Given the description of an element on the screen output the (x, y) to click on. 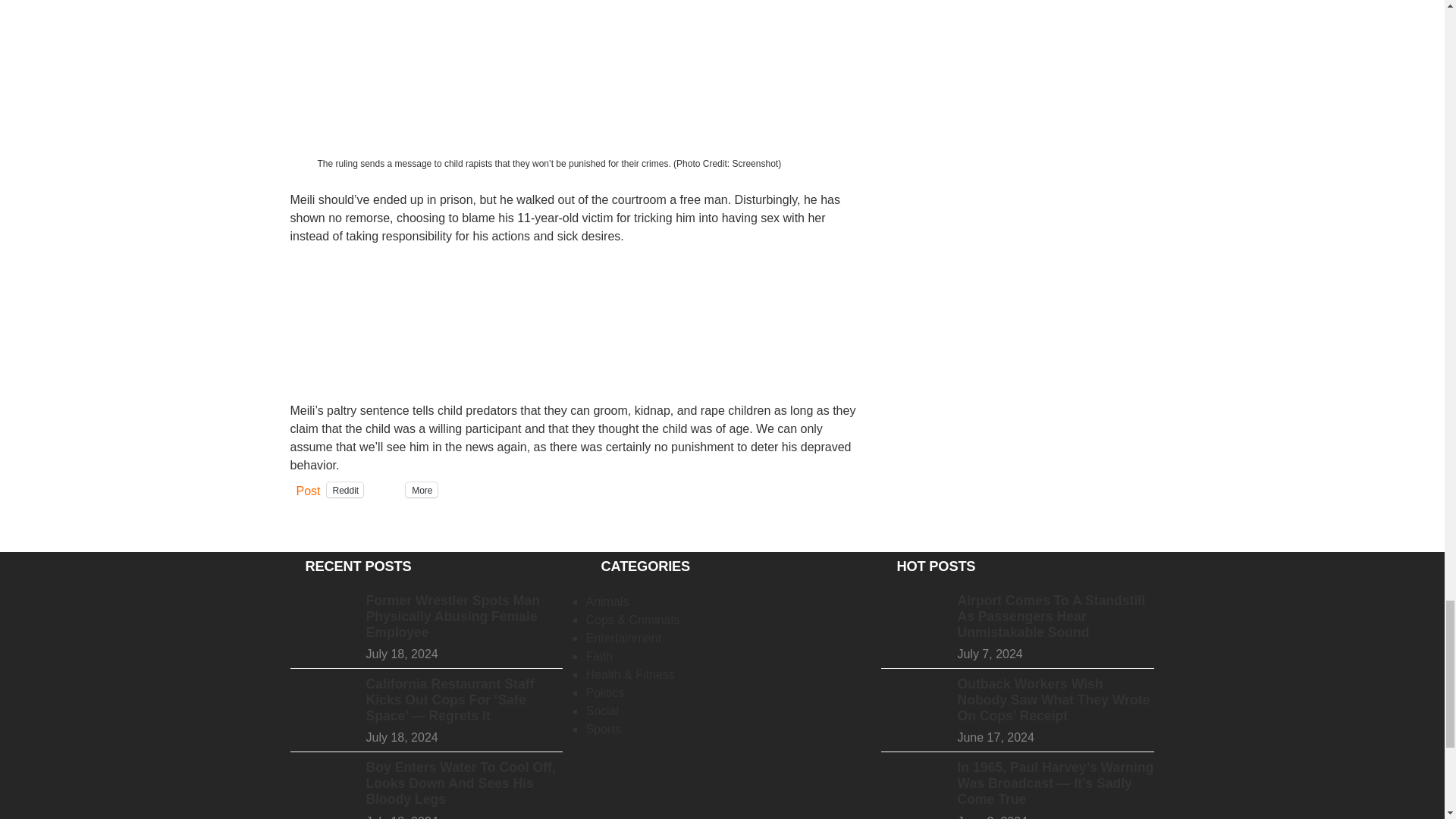
Post (307, 489)
Click to share on Reddit (345, 489)
More (421, 489)
Reddit (345, 489)
